Given the description of an element on the screen output the (x, y) to click on. 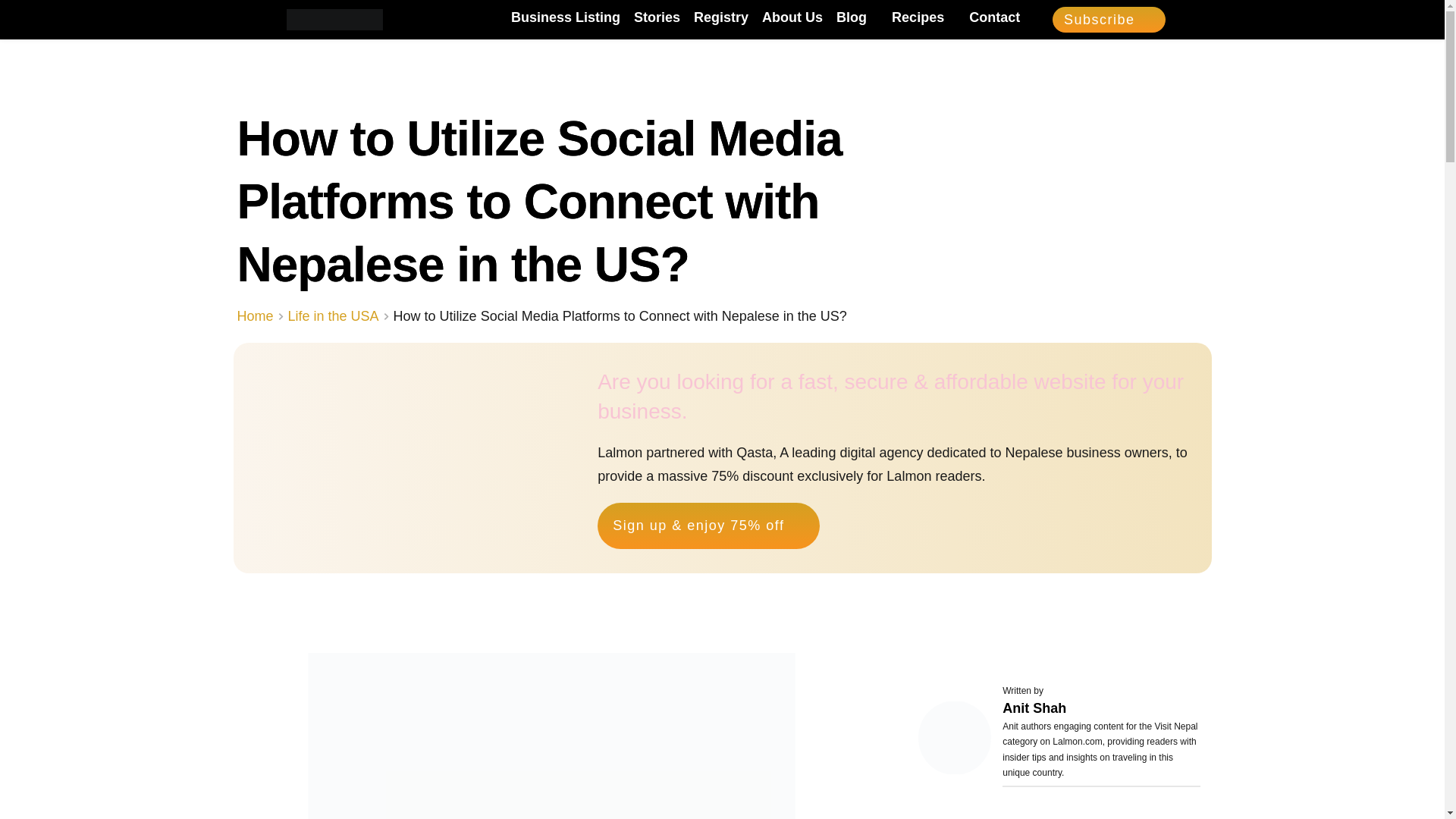
Registry (721, 17)
Business Listing (565, 17)
Blog (856, 17)
Contact (994, 17)
Stories (656, 17)
Recipes (923, 17)
About Us (791, 17)
